Given the description of an element on the screen output the (x, y) to click on. 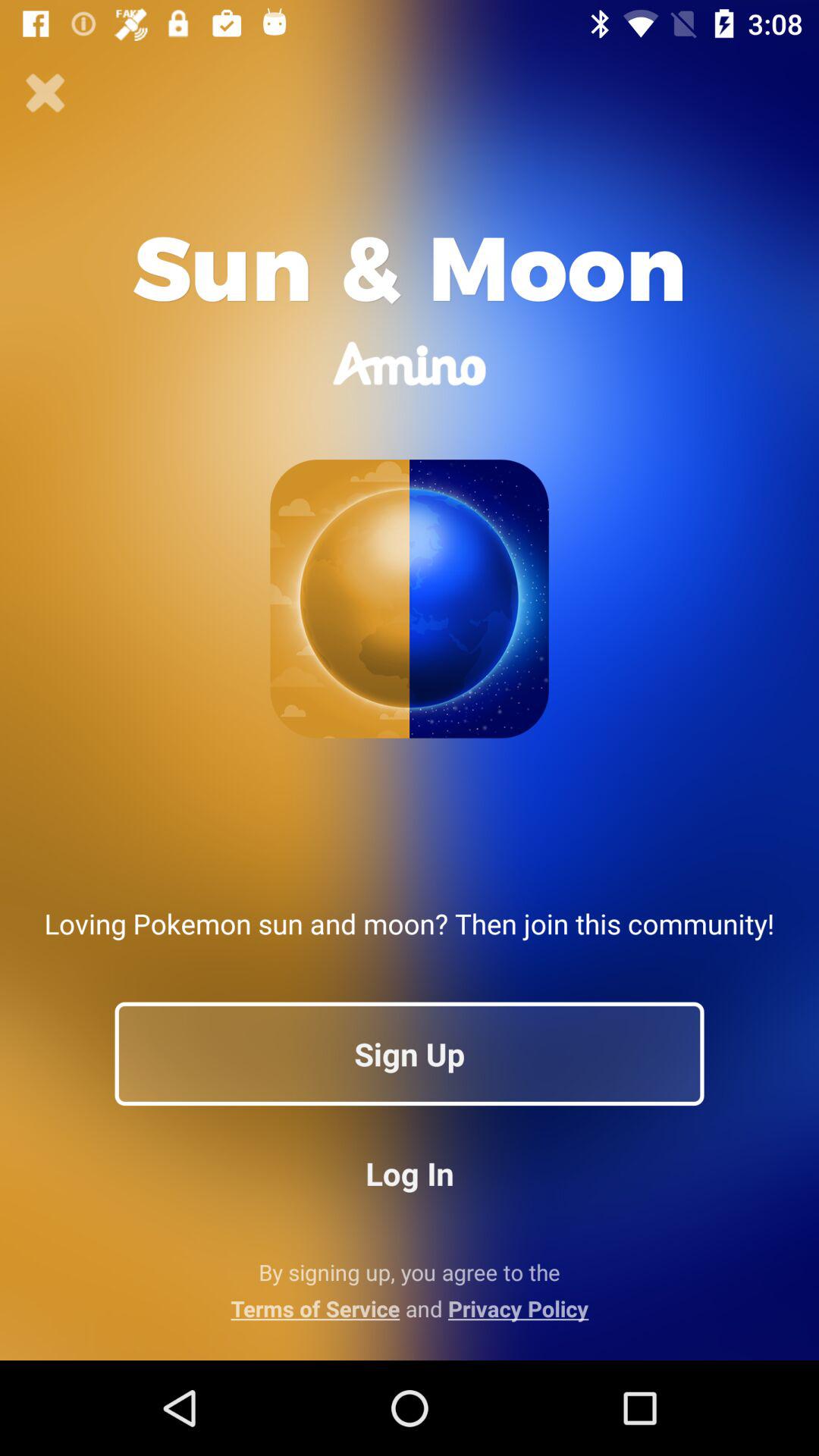
scroll until the log in item (409, 1173)
